Given the description of an element on the screen output the (x, y) to click on. 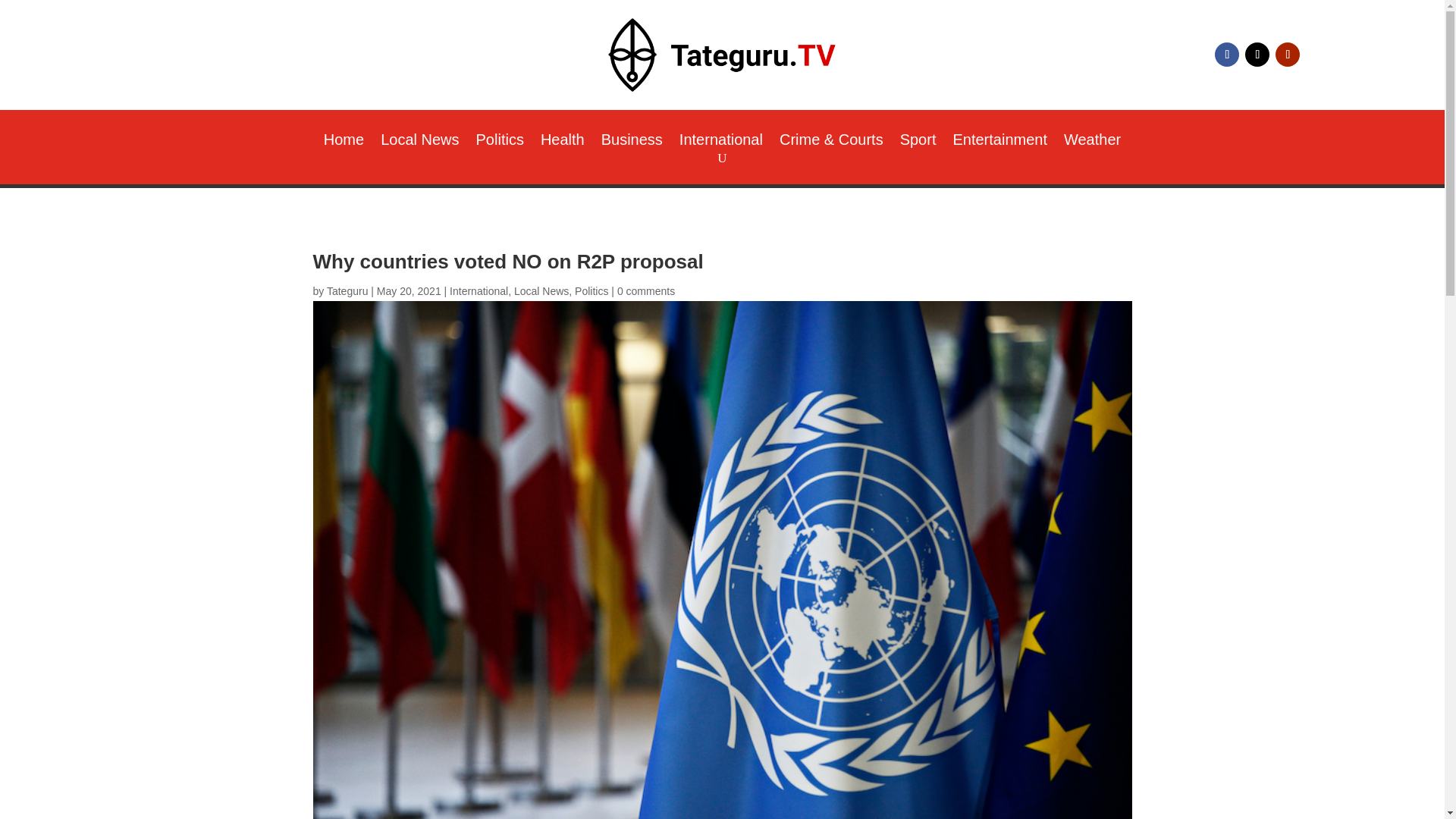
Sport (917, 142)
Weather (1092, 142)
Follow on Facebook (1226, 54)
Follow on Youtube (1287, 54)
Local News (419, 142)
Follow on X (1256, 54)
Home (343, 142)
International (720, 142)
Posts by Tateguru (347, 291)
Politics (500, 142)
